Given the description of an element on the screen output the (x, y) to click on. 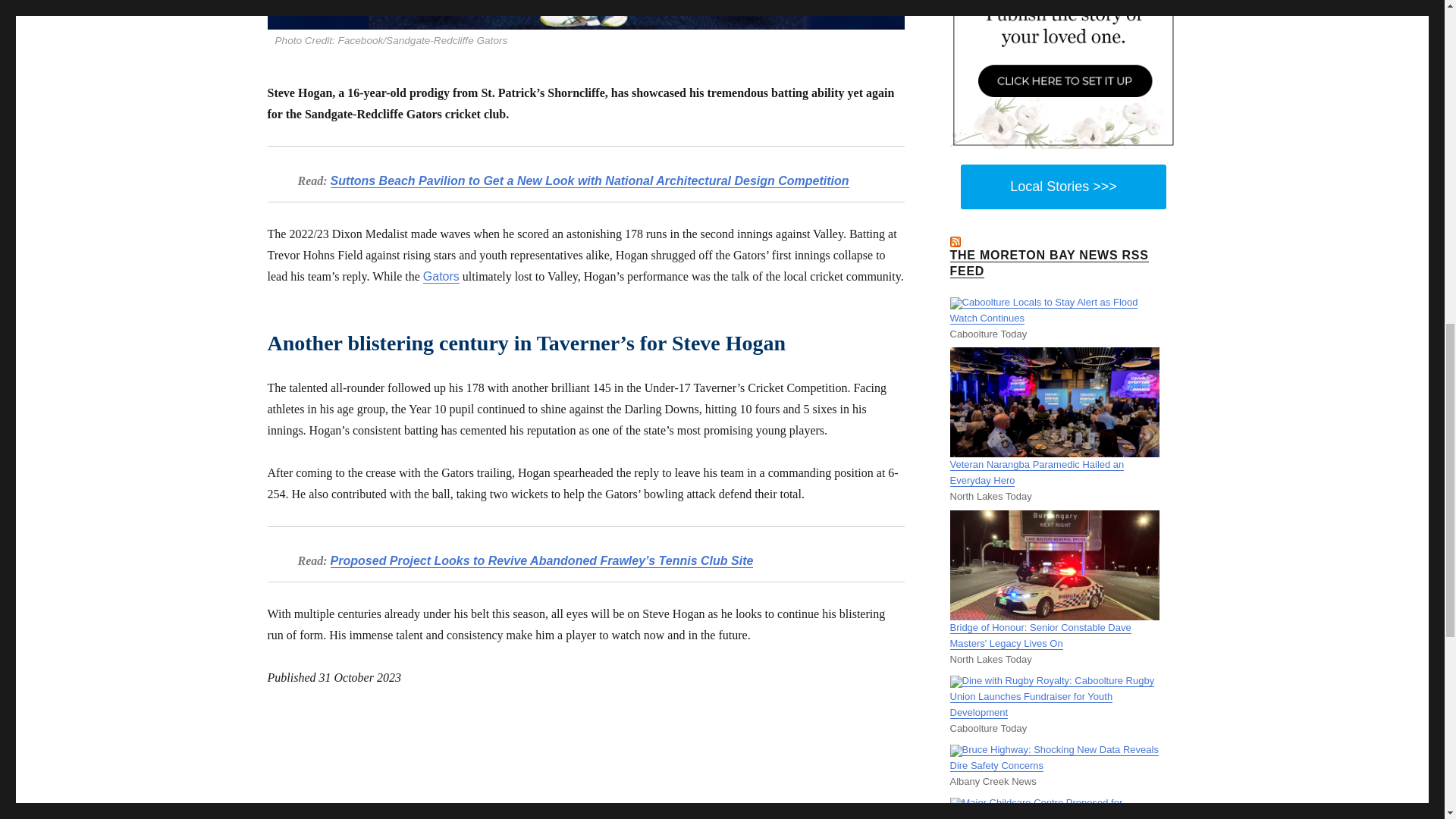
Caboolture Locals to Stay Alert as Flood Watch Continues (1043, 309)
THE MORETON BAY NEWS RSS FEED (1048, 262)
Veteran Narangba Paramedic Hailed an Everyday Hero (1036, 472)
Gators (441, 276)
